Given the description of an element on the screen output the (x, y) to click on. 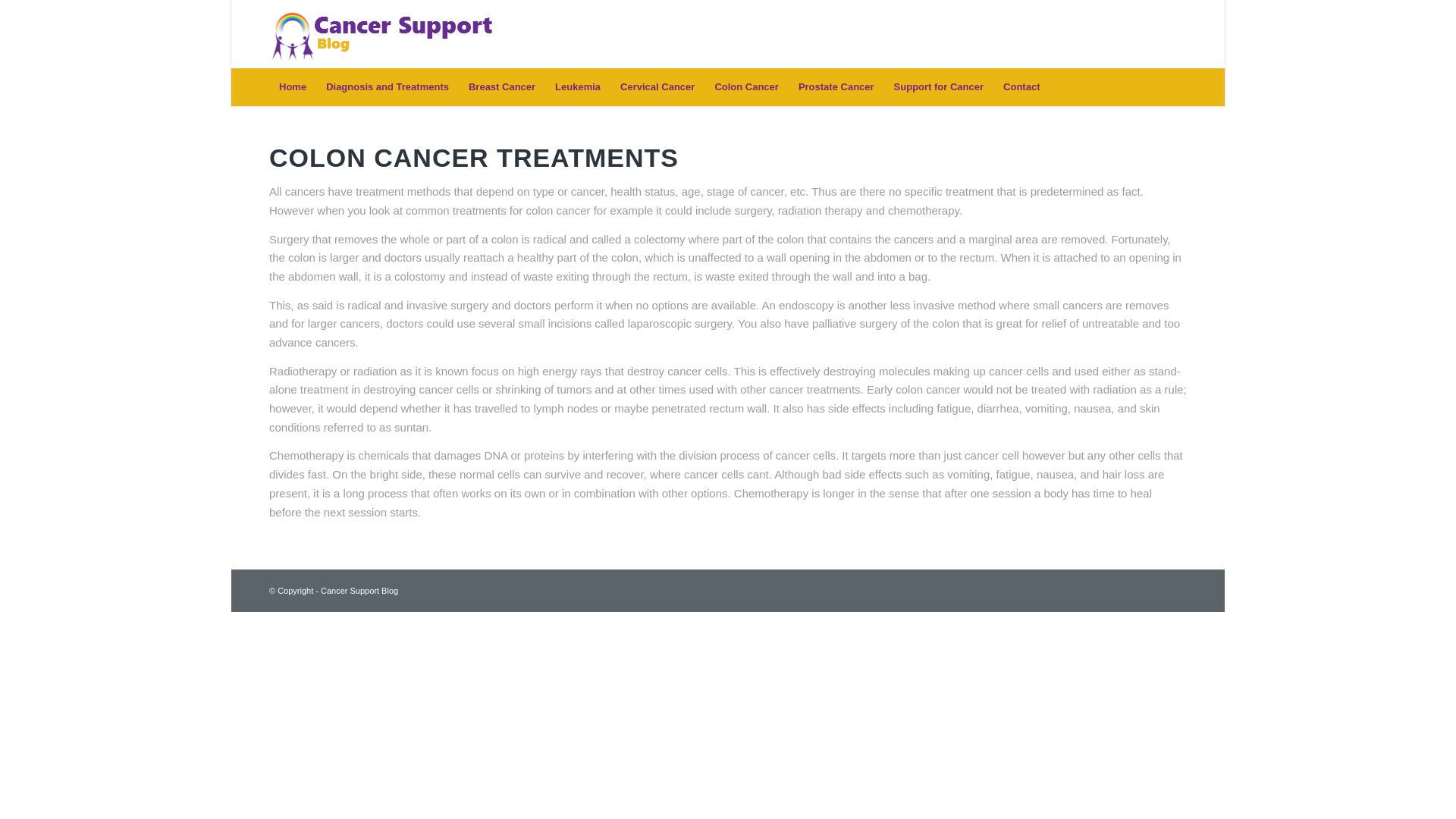
Home (292, 86)
Breast Cancer (501, 86)
Prostate Cancer (836, 86)
Leukemia (577, 86)
Colon Cancer (746, 86)
Diagnosis and Treatments (386, 86)
Cervical Cancer (657, 86)
